Given the description of an element on the screen output the (x, y) to click on. 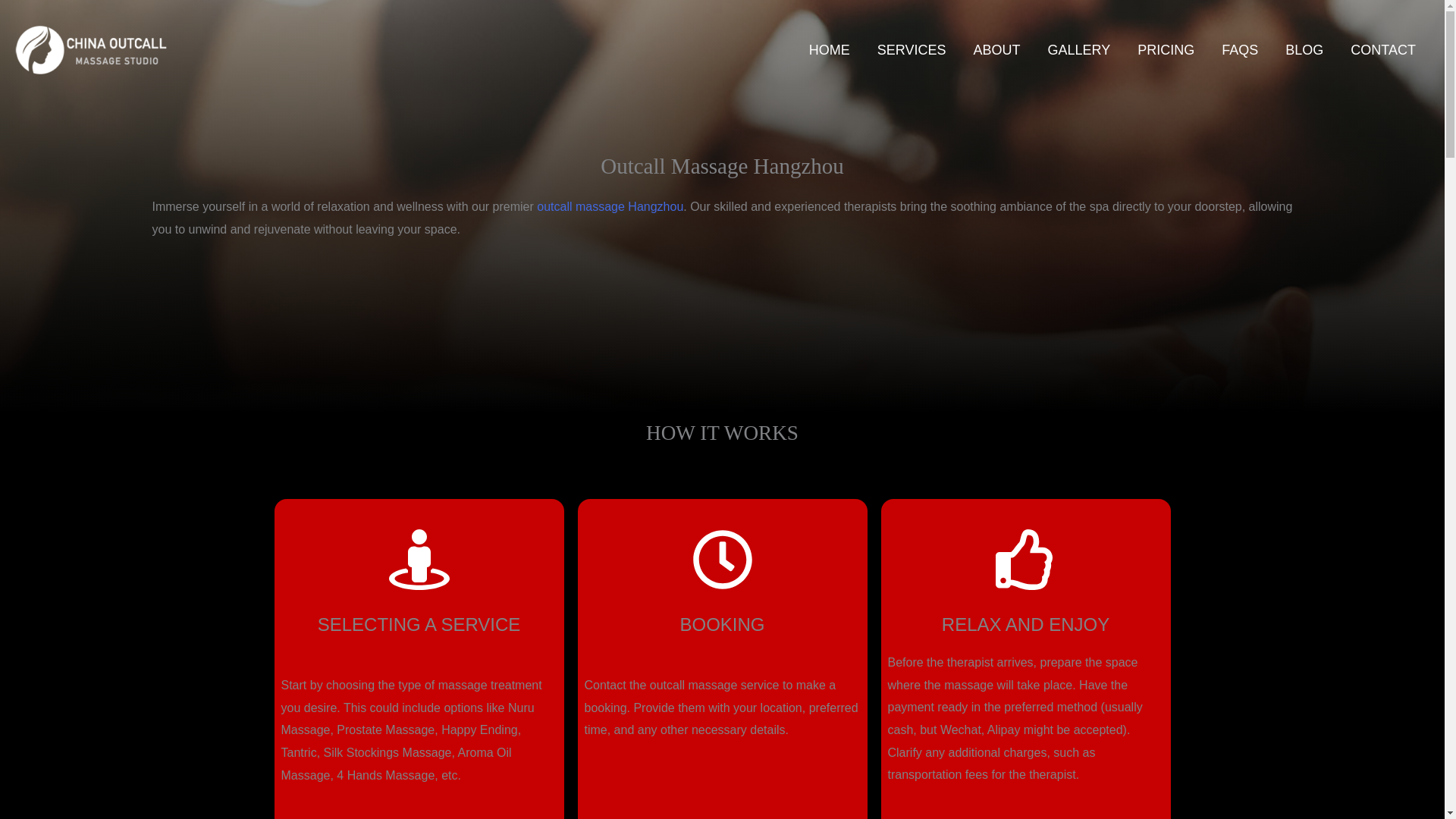
SERVICES (911, 49)
PRICING (1166, 49)
FAQS (1239, 49)
GALLERY (1078, 49)
outcall massage Hangzhou (609, 205)
BLOG (1303, 49)
CONTACT (1382, 49)
HOME (828, 49)
ABOUT (996, 49)
